Given the description of an element on the screen output the (x, y) to click on. 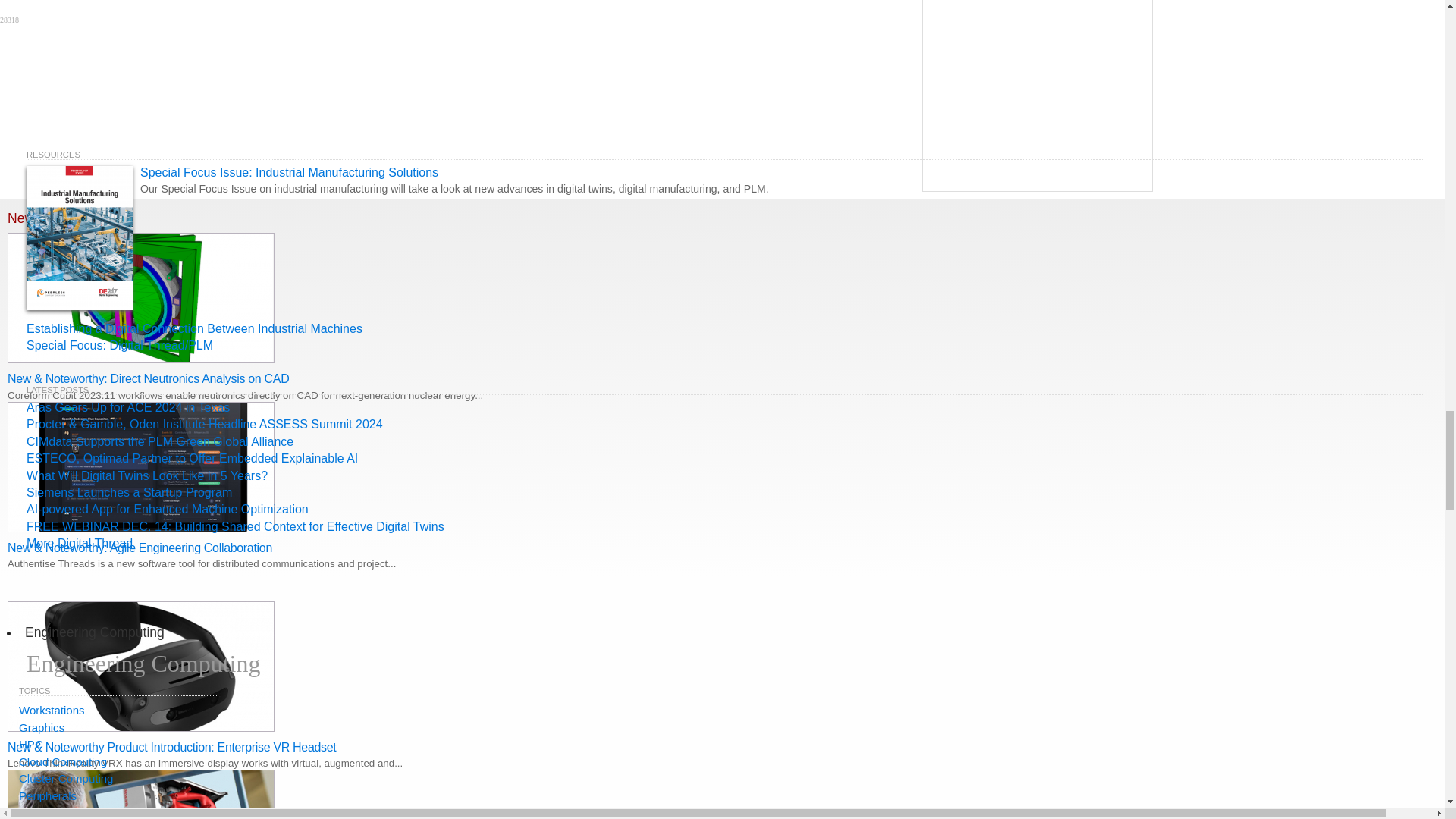
3rd party ad content (1037, 95)
